Given the description of an element on the screen output the (x, y) to click on. 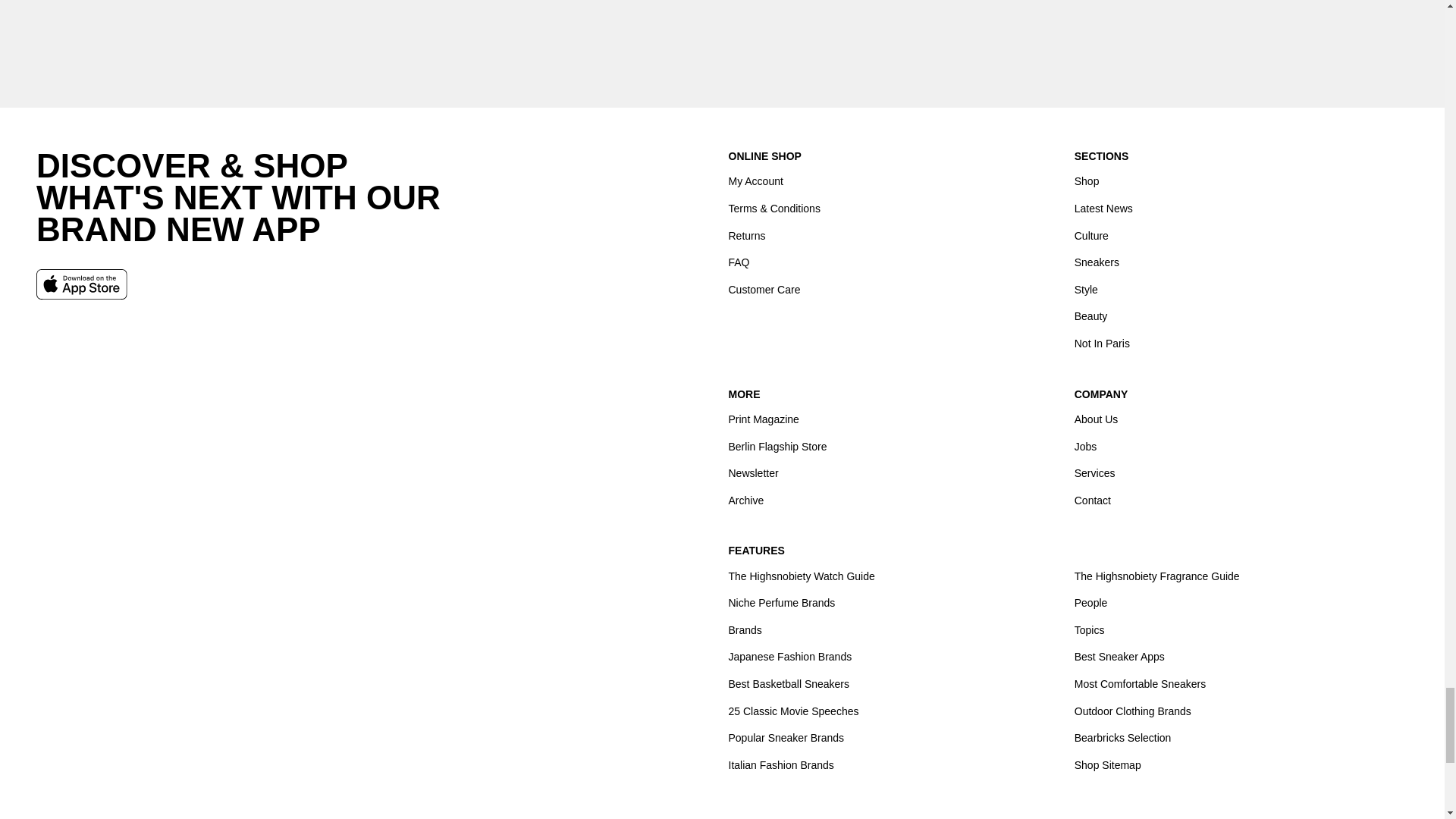
Shop (1086, 181)
FAQ (738, 262)
My Account (755, 181)
Customer Care (763, 288)
Returns (746, 235)
